Given the description of an element on the screen output the (x, y) to click on. 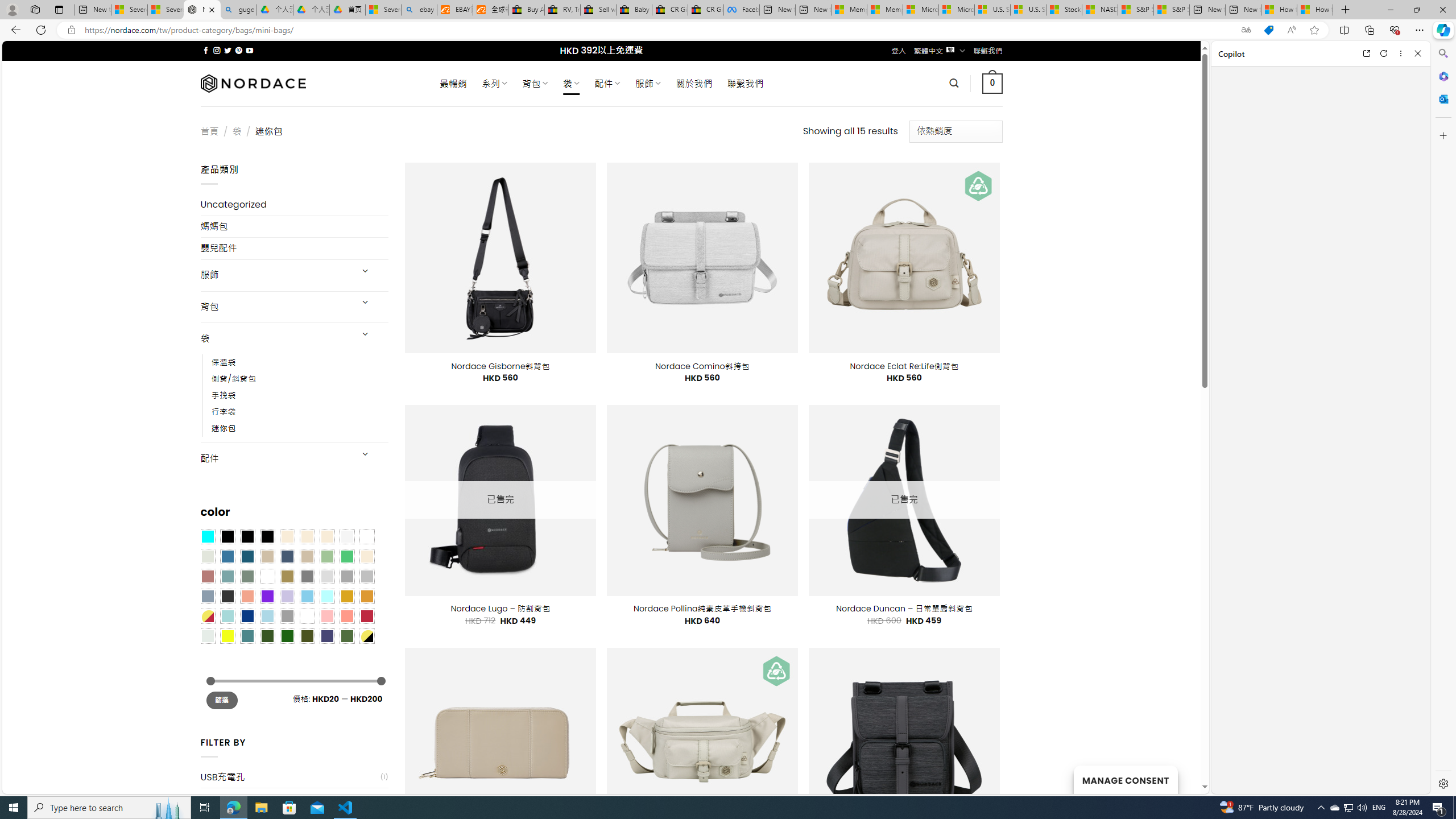
MANAGE CONSENT (1125, 779)
Cream (327, 536)
